Given the description of an element on the screen output the (x, y) to click on. 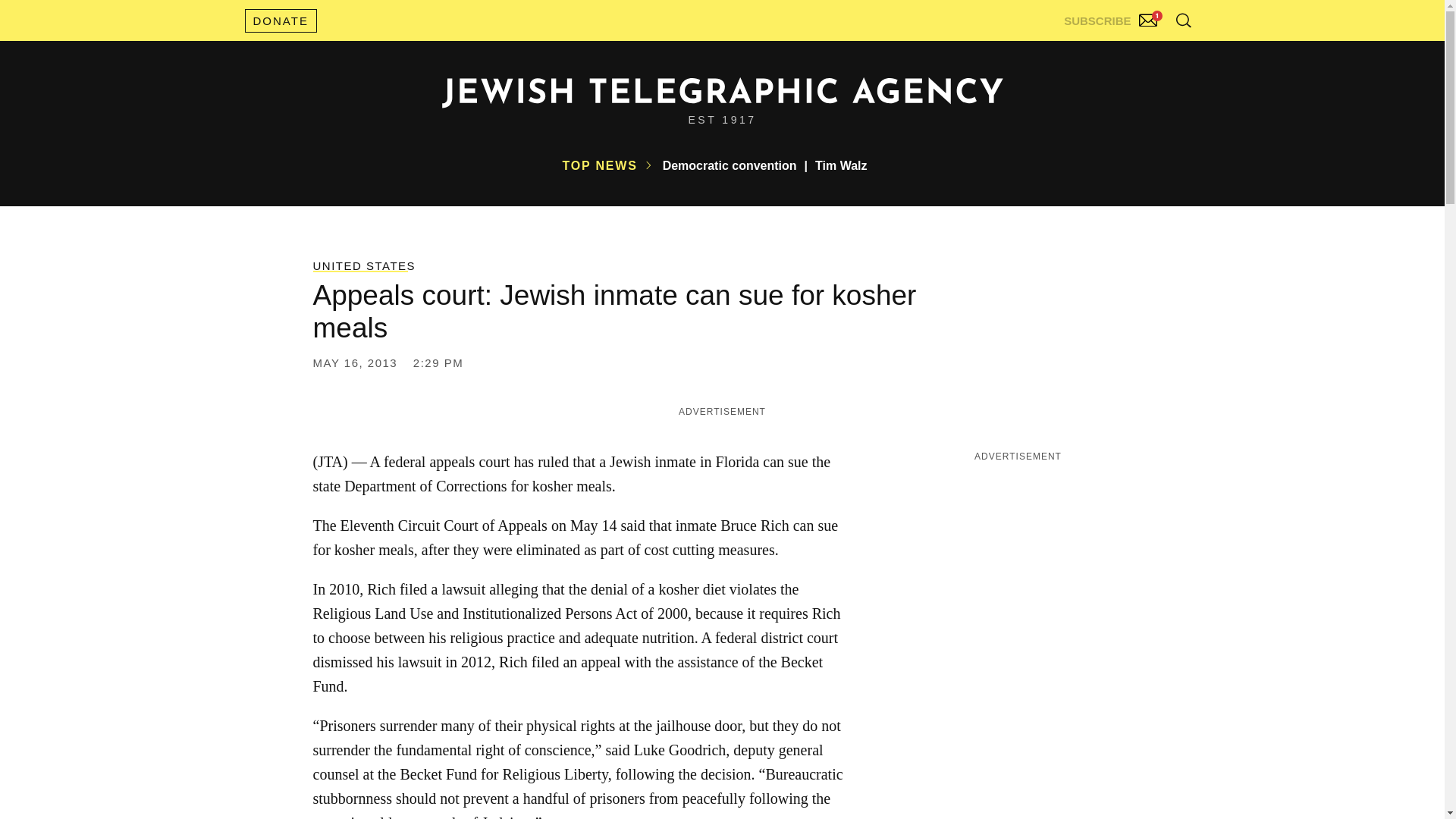
Search (1144, 53)
SEARCH TOGGLESEARCH TOGGLE (1182, 20)
DONATE (279, 20)
SUBSCRIBE (1112, 17)
